Given the description of an element on the screen output the (x, y) to click on. 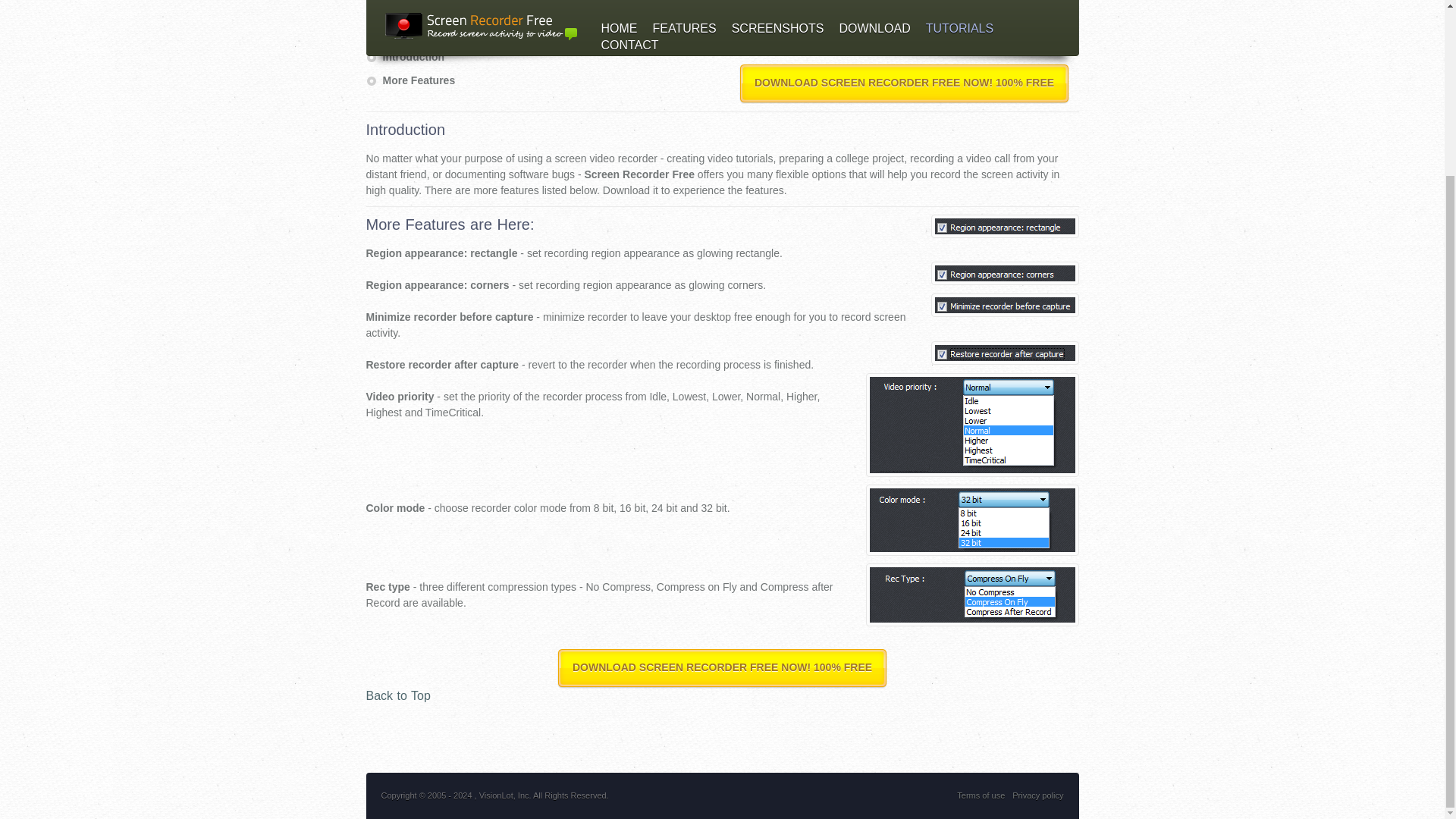
Privacy policy (1036, 795)
Region appearance: rectangle (1004, 226)
Introduction (412, 56)
Restore recorder after capture (1004, 352)
Video priority (972, 424)
Minimize recorder before capture (1004, 304)
More Features (417, 80)
